Given the description of an element on the screen output the (x, y) to click on. 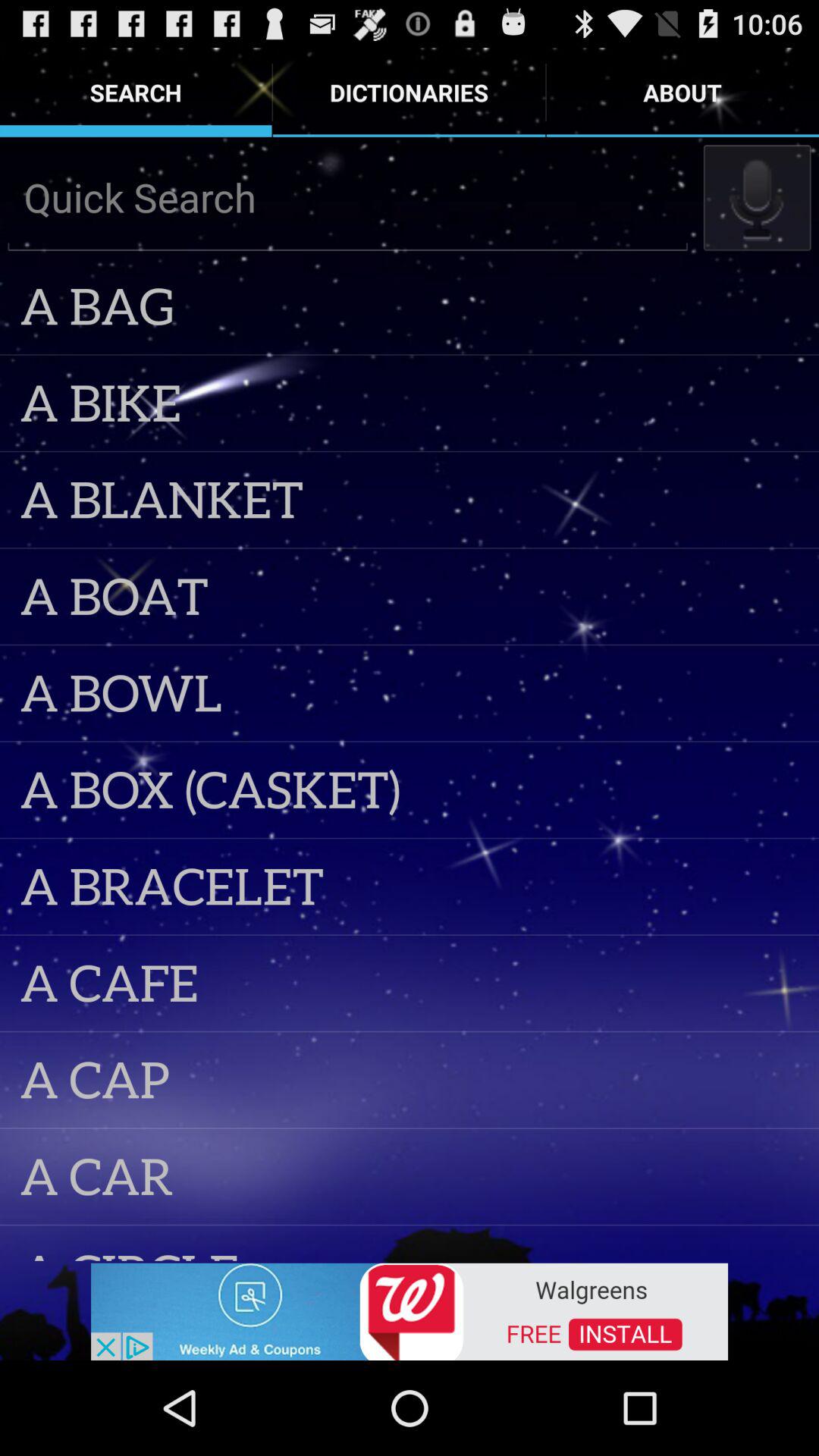
open advertisement (409, 1310)
